Given the description of an element on the screen output the (x, y) to click on. 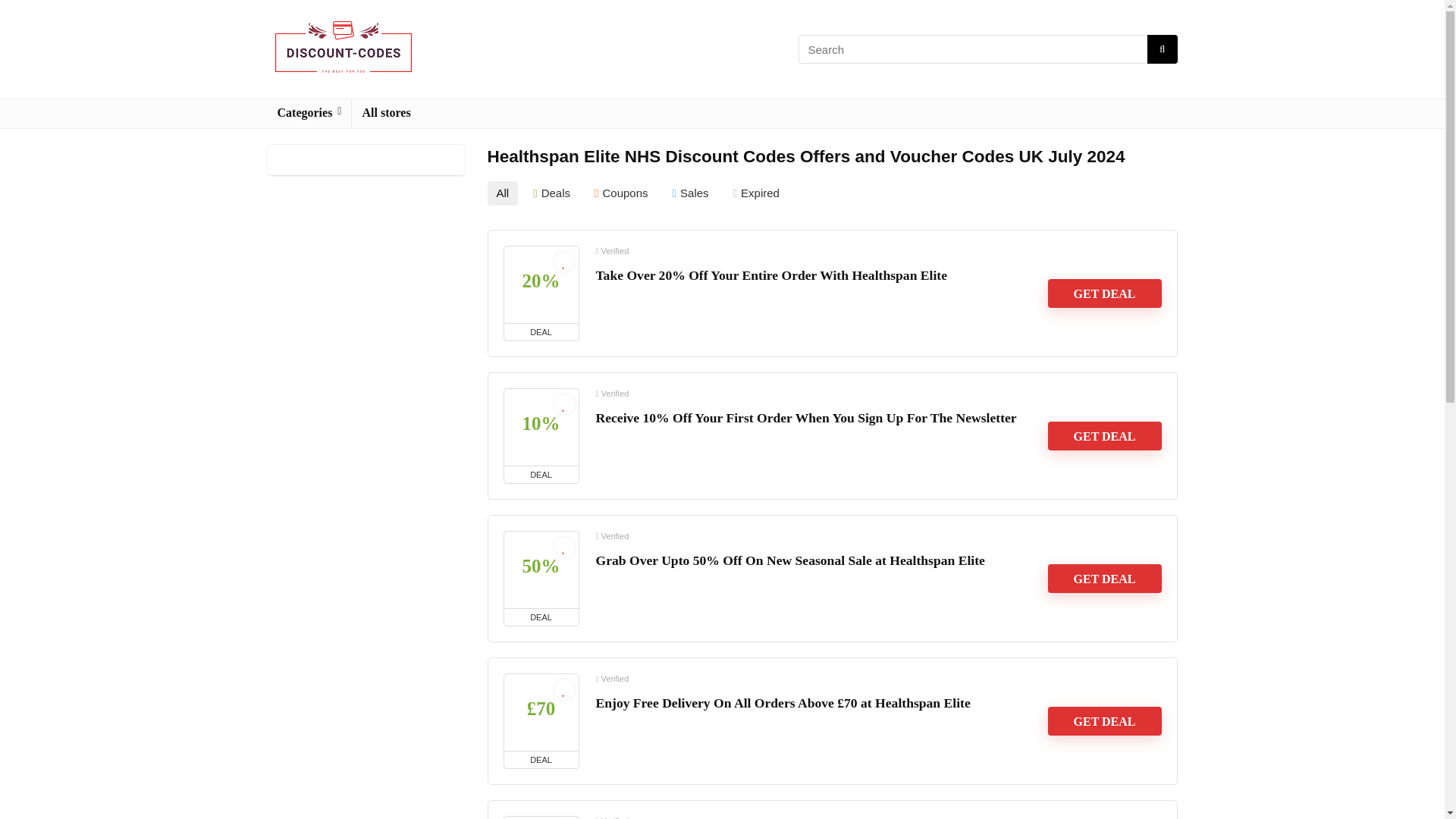
All stores (386, 113)
Categories (308, 113)
